Given the description of an element on the screen output the (x, y) to click on. 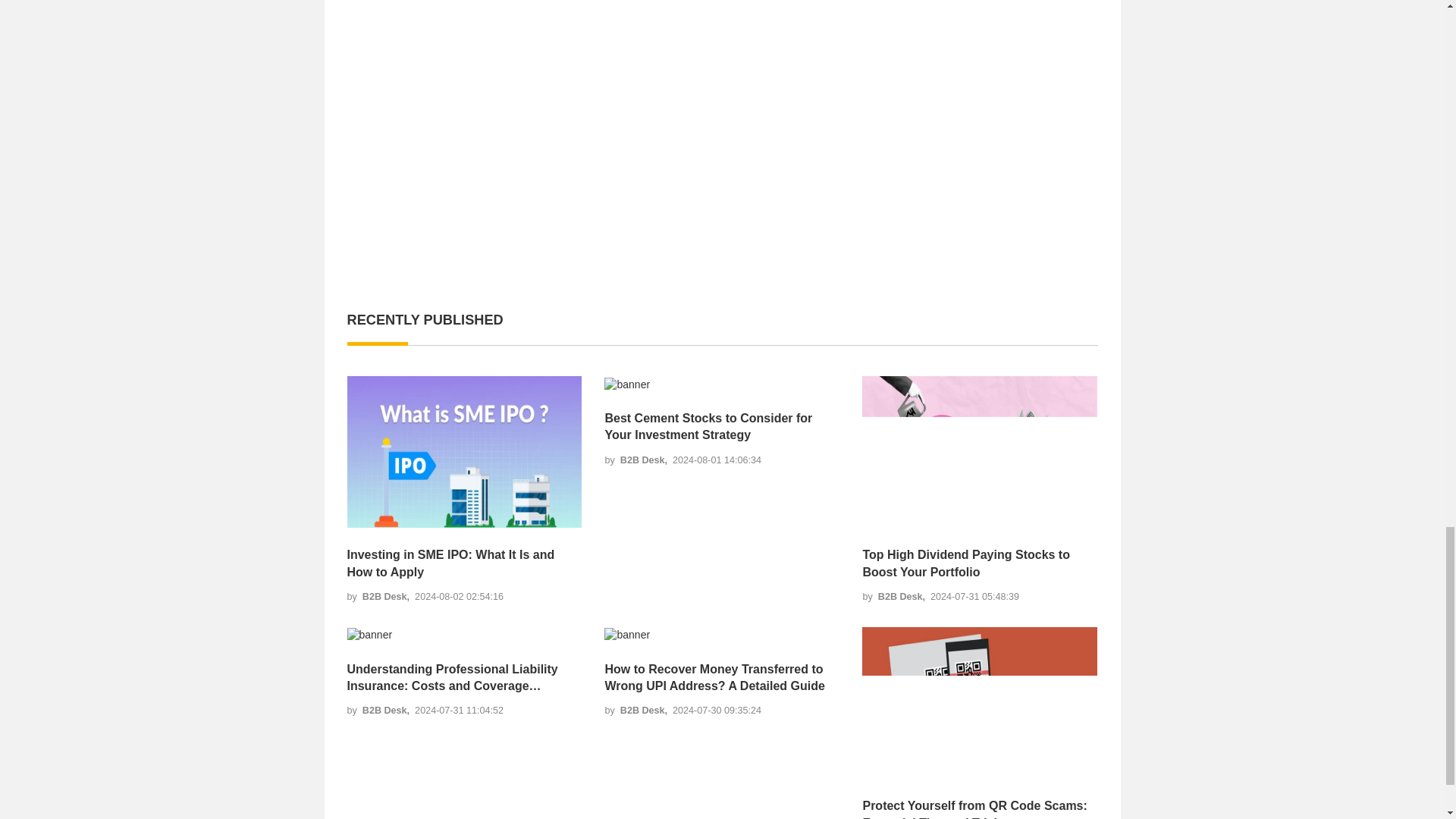
B2B Desk,  (387, 596)
Investing in SME IPO: What It Is and How to Apply (464, 563)
